Given the description of an element on the screen output the (x, y) to click on. 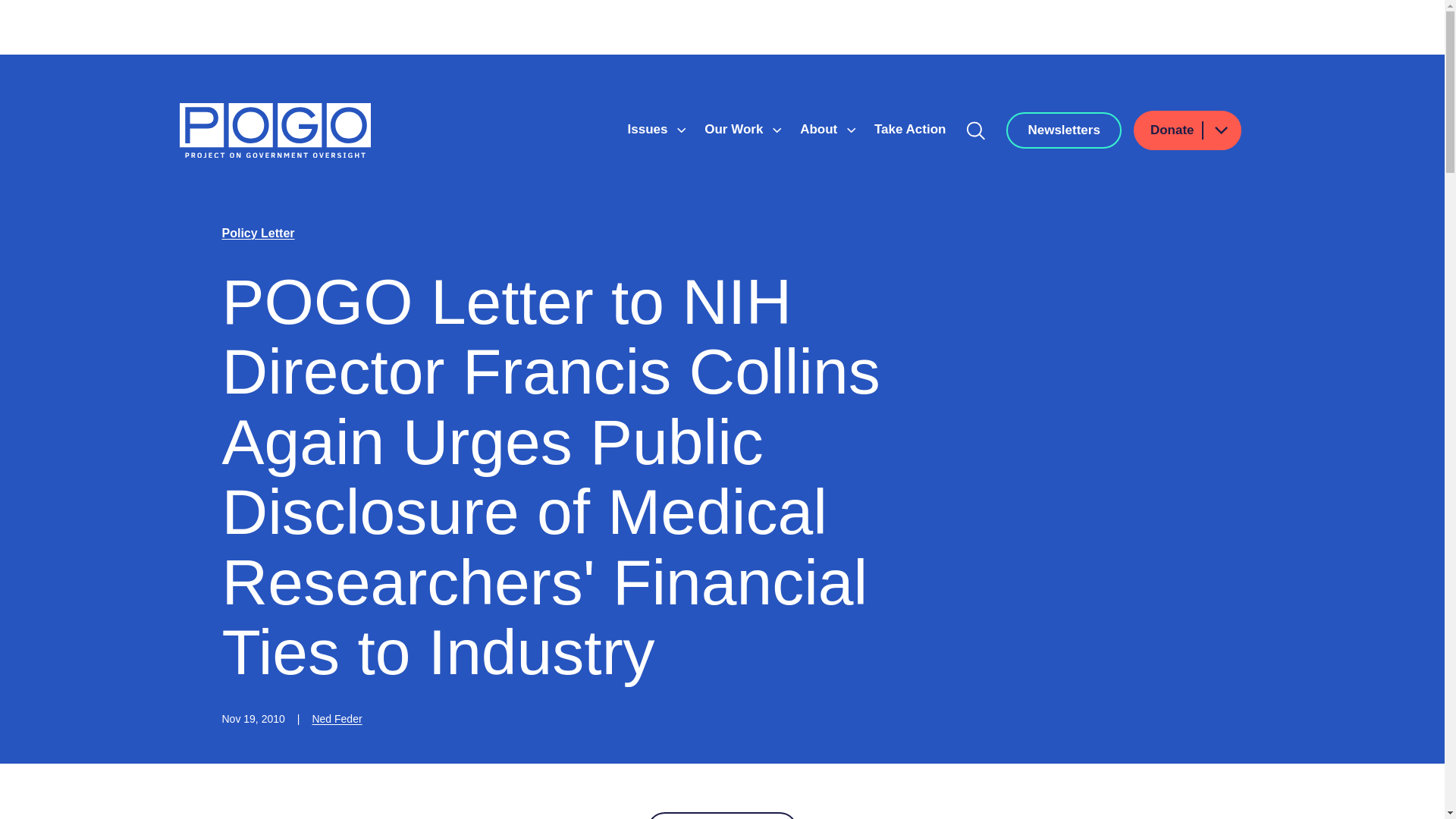
Show submenu for About (851, 130)
Search (976, 130)
Home (274, 130)
Donate (1187, 130)
Show submenu for Donate (1220, 129)
Take Action (909, 129)
Show submenu for Our Work (777, 130)
About (820, 129)
Show submenu for Issues (681, 130)
Our Work (735, 129)
